Given the description of an element on the screen output the (x, y) to click on. 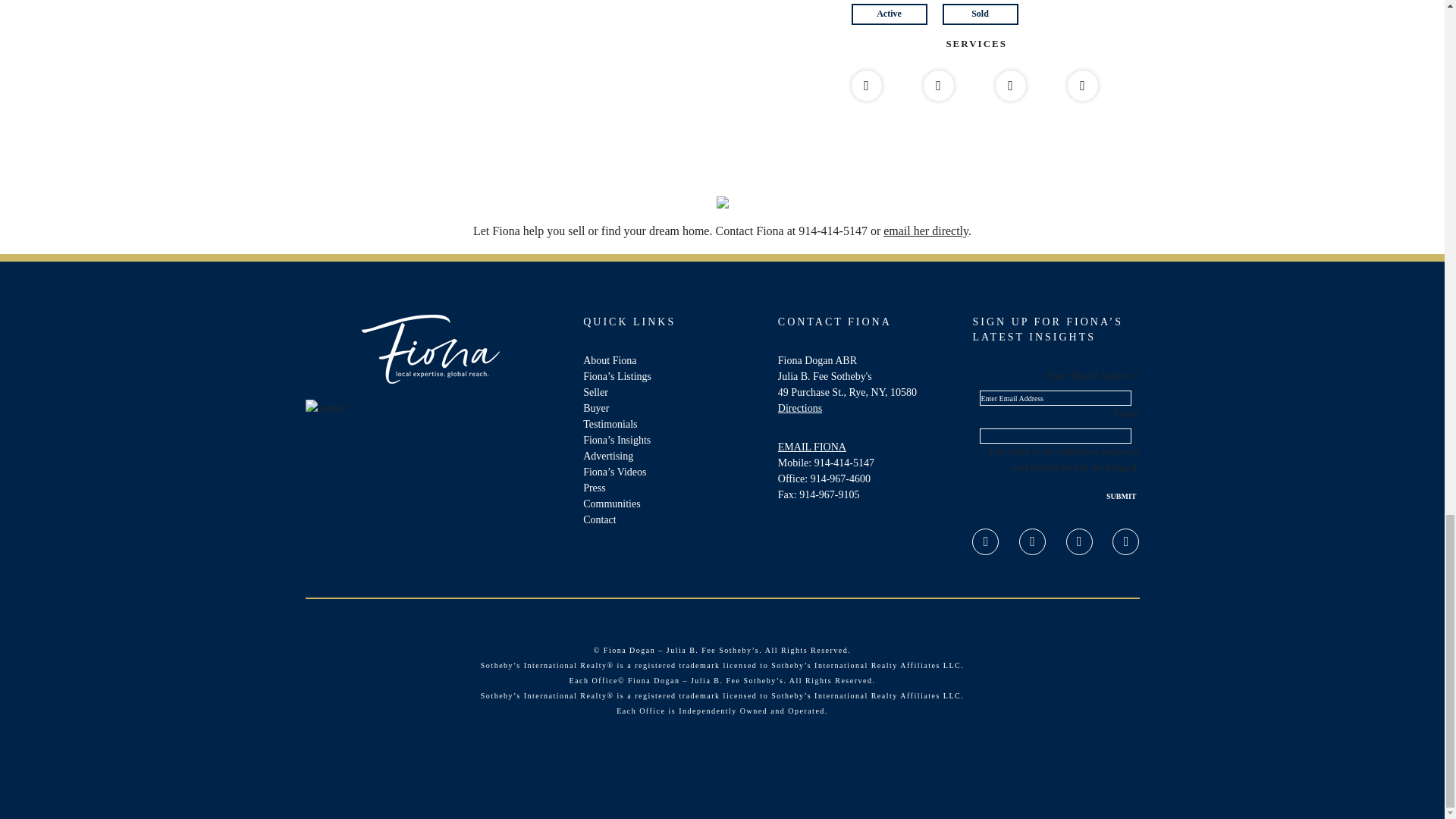
Active (888, 14)
SUBMIT (1120, 496)
Sold (979, 14)
Sold (987, 14)
Active (896, 14)
